Given the description of an element on the screen output the (x, y) to click on. 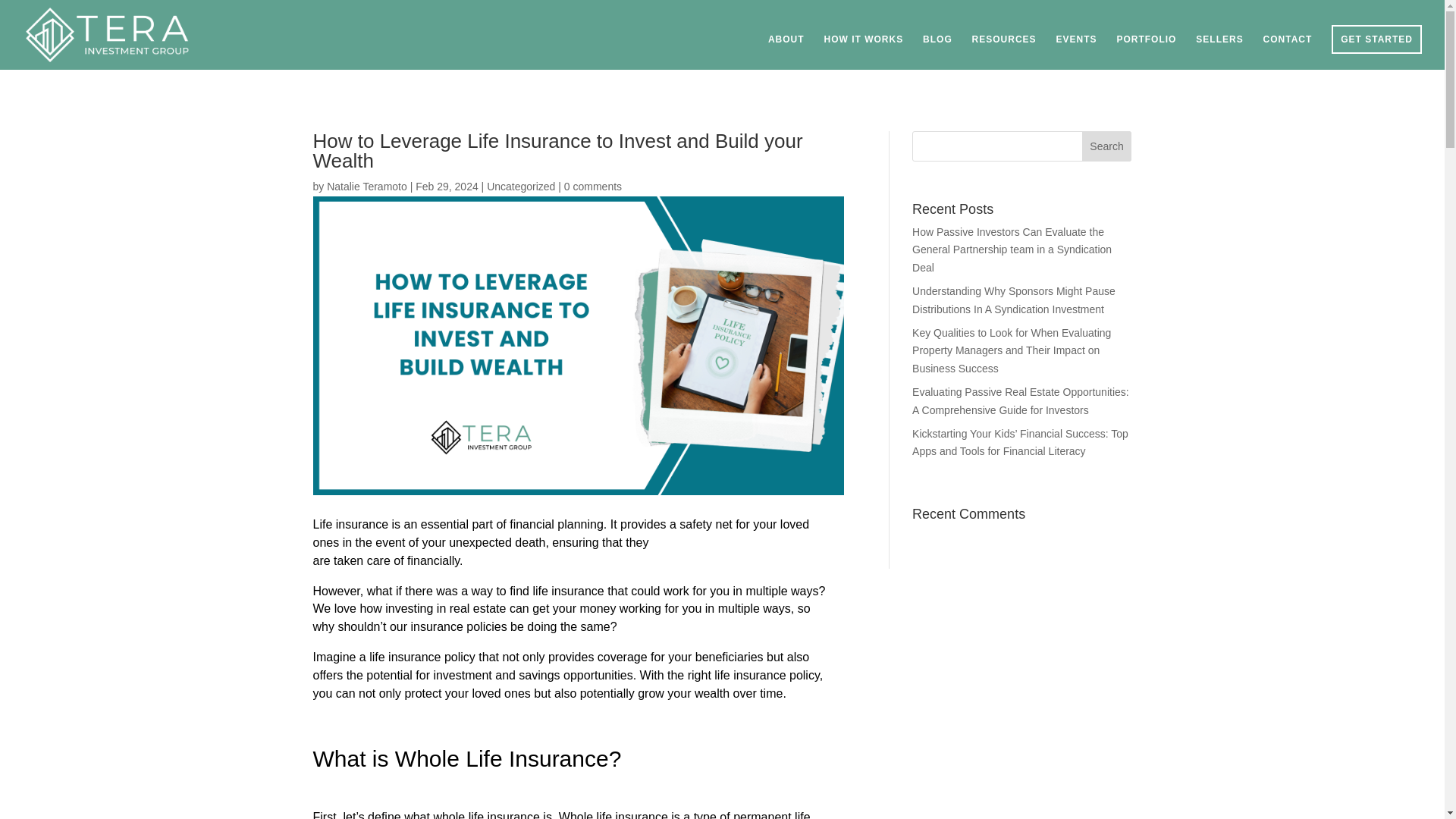
CONTACT (1288, 51)
PORTFOLIO (1146, 51)
RESOURCES (1004, 51)
ABOUT (786, 51)
0 comments (592, 186)
EVENTS (1077, 51)
Uncategorized (520, 186)
Posts by Natalie Teramoto (366, 186)
Search (1106, 146)
Natalie Teramoto (366, 186)
